Given the description of an element on the screen output the (x, y) to click on. 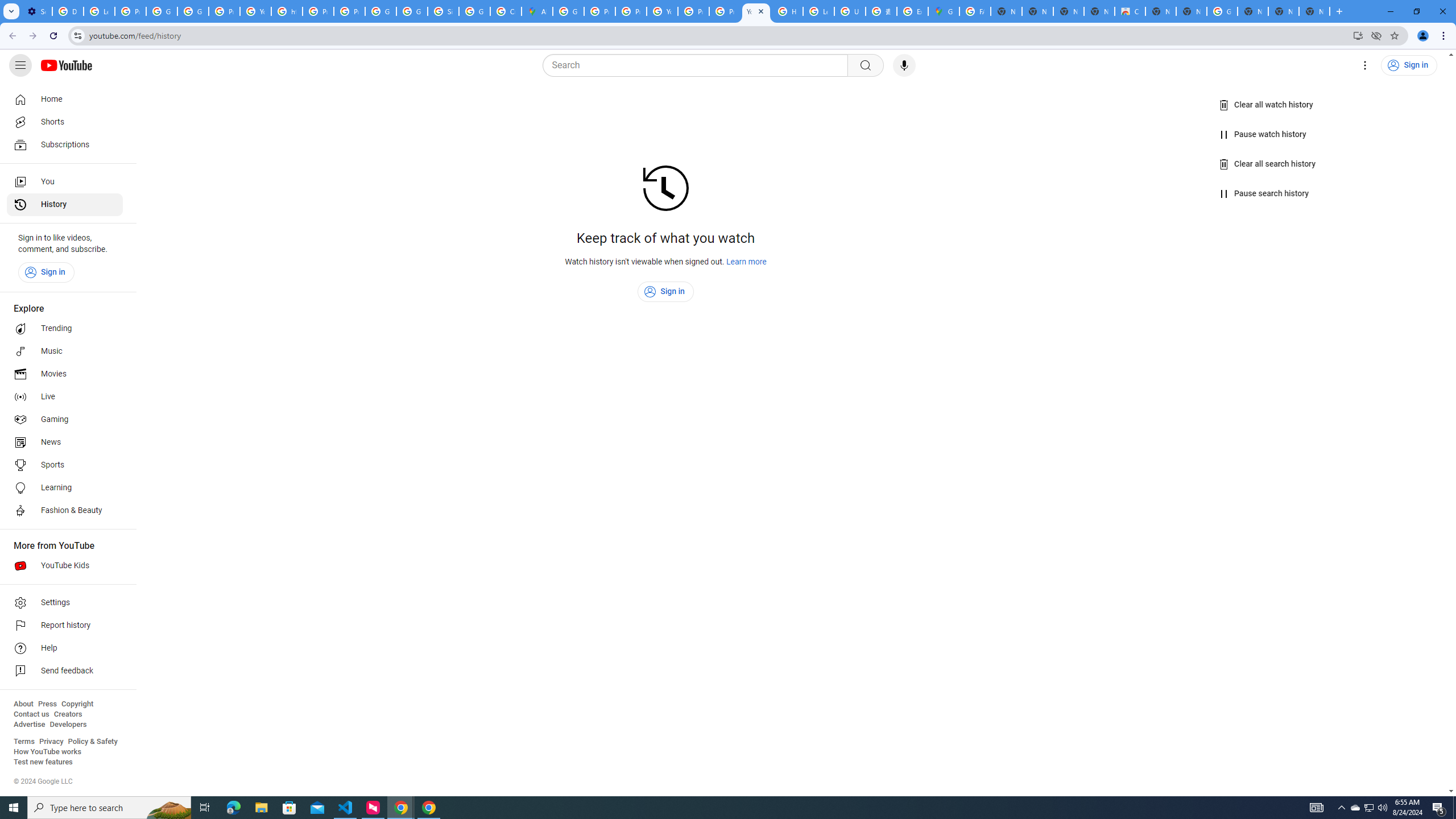
How Chrome protects your passwords - Google Chrome Help (787, 11)
Chrome Web Store (1129, 11)
Pause watch history (1263, 134)
Privacy Help Center - Policies Help (599, 11)
Live (64, 396)
YouTube Home (66, 65)
